Given the description of an element on the screen output the (x, y) to click on. 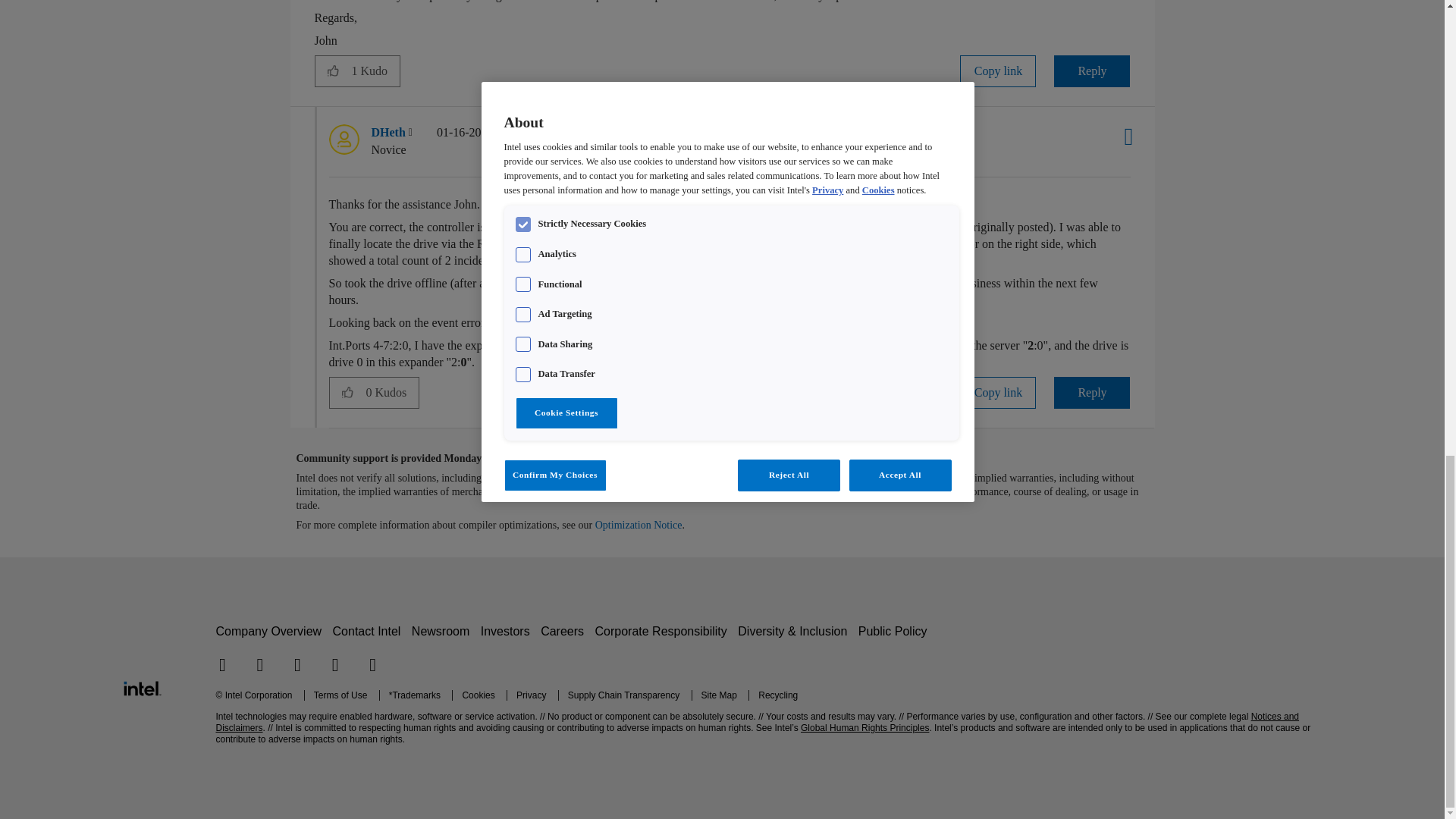
Click here to see who gave kudos to this post. (374, 71)
